Given the description of an element on the screen output the (x, y) to click on. 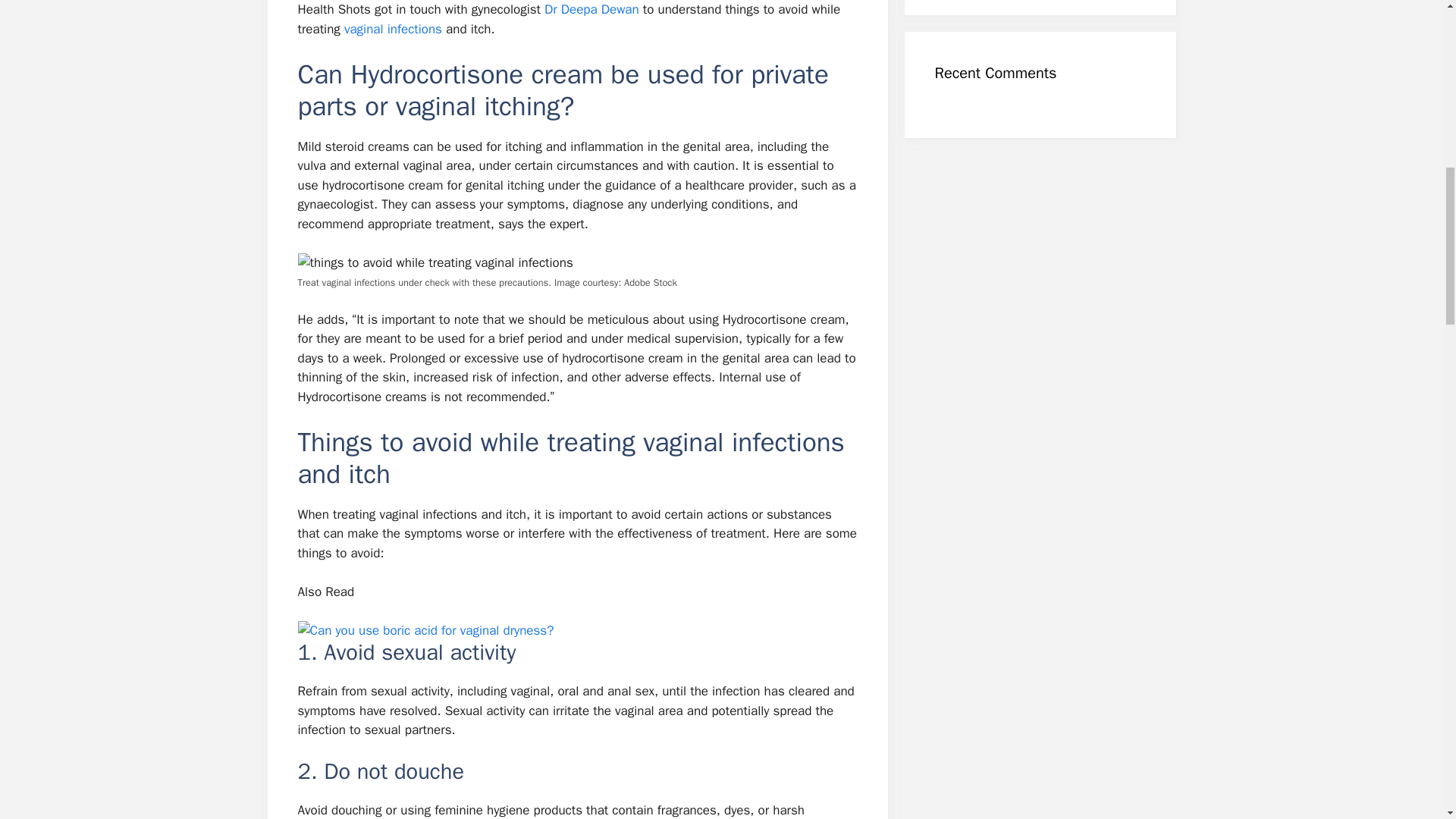
things to avoid while treating vaginal infections (434, 262)
Scroll back to top (1406, 720)
Can you use boric acid for vaginal dryness? (425, 630)
